Given the description of an element on the screen output the (x, y) to click on. 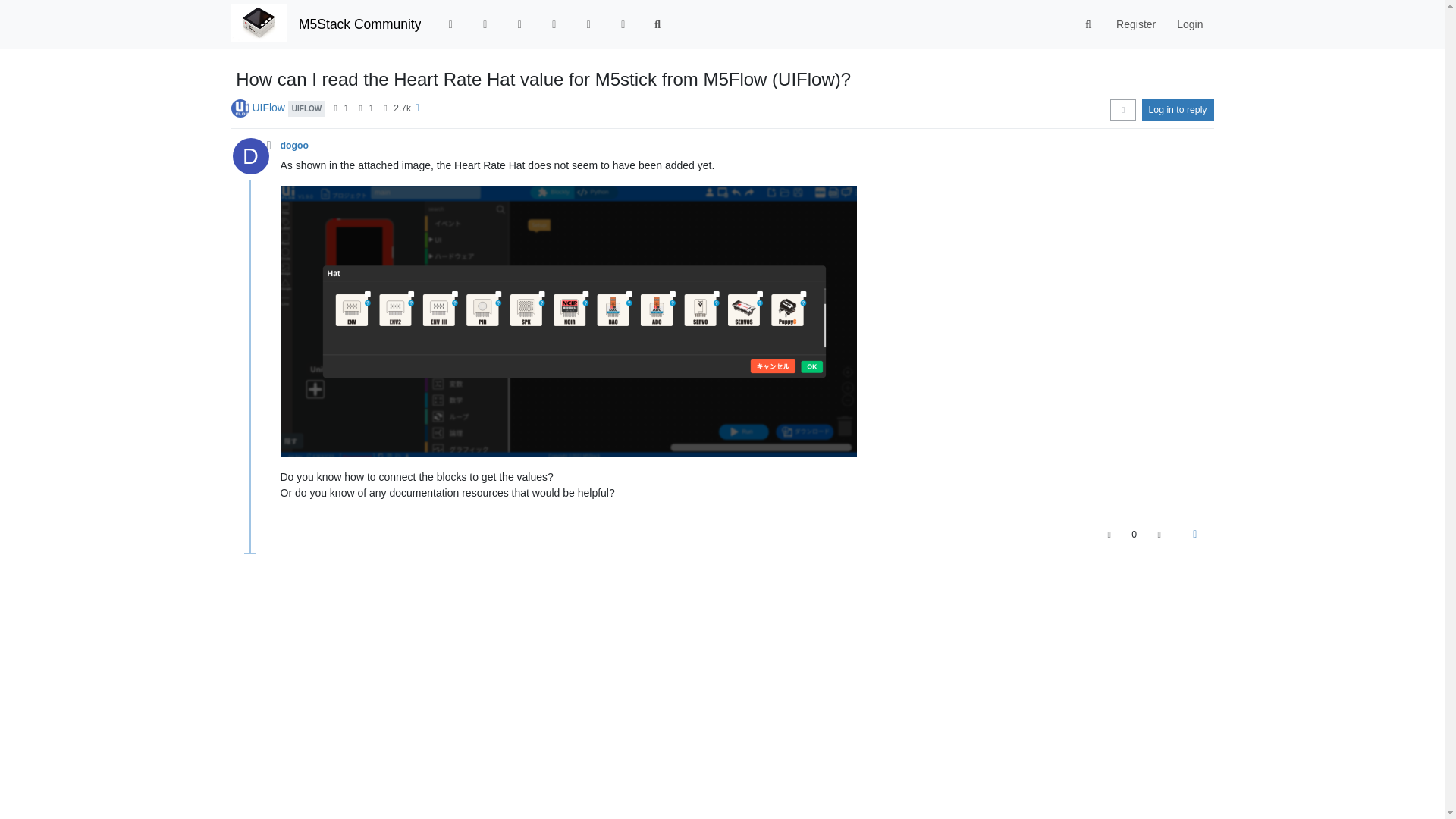
D (255, 159)
Log in to reply (1177, 109)
Views (385, 108)
Tags (519, 24)
UIFLOW (306, 107)
Posts (360, 108)
Categories (449, 24)
Login (1189, 24)
Search (1088, 24)
UIFlow (268, 107)
